Given the description of an element on the screen output the (x, y) to click on. 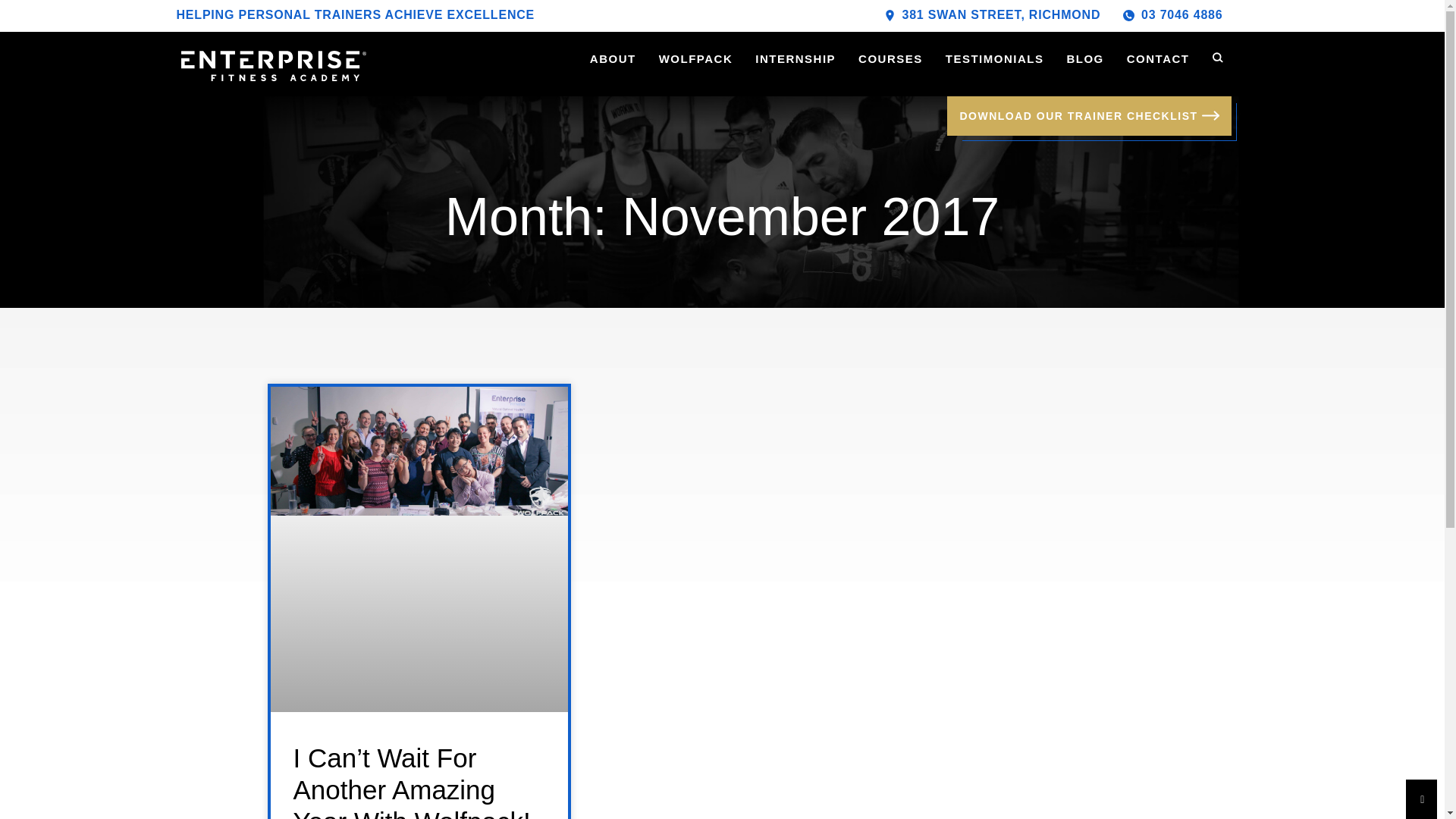
DOWNLOAD OUR TRAINER CHECKLIST (1089, 115)
CONTACT (1157, 59)
BLOG (1084, 59)
COURSES (891, 59)
INTERNSHIP (795, 59)
381 SWAN STREET, RICHMOND (991, 14)
ABOUT (612, 59)
TESTIMONIALS (993, 59)
WOLFPACK (696, 59)
